Given the description of an element on the screen output the (x, y) to click on. 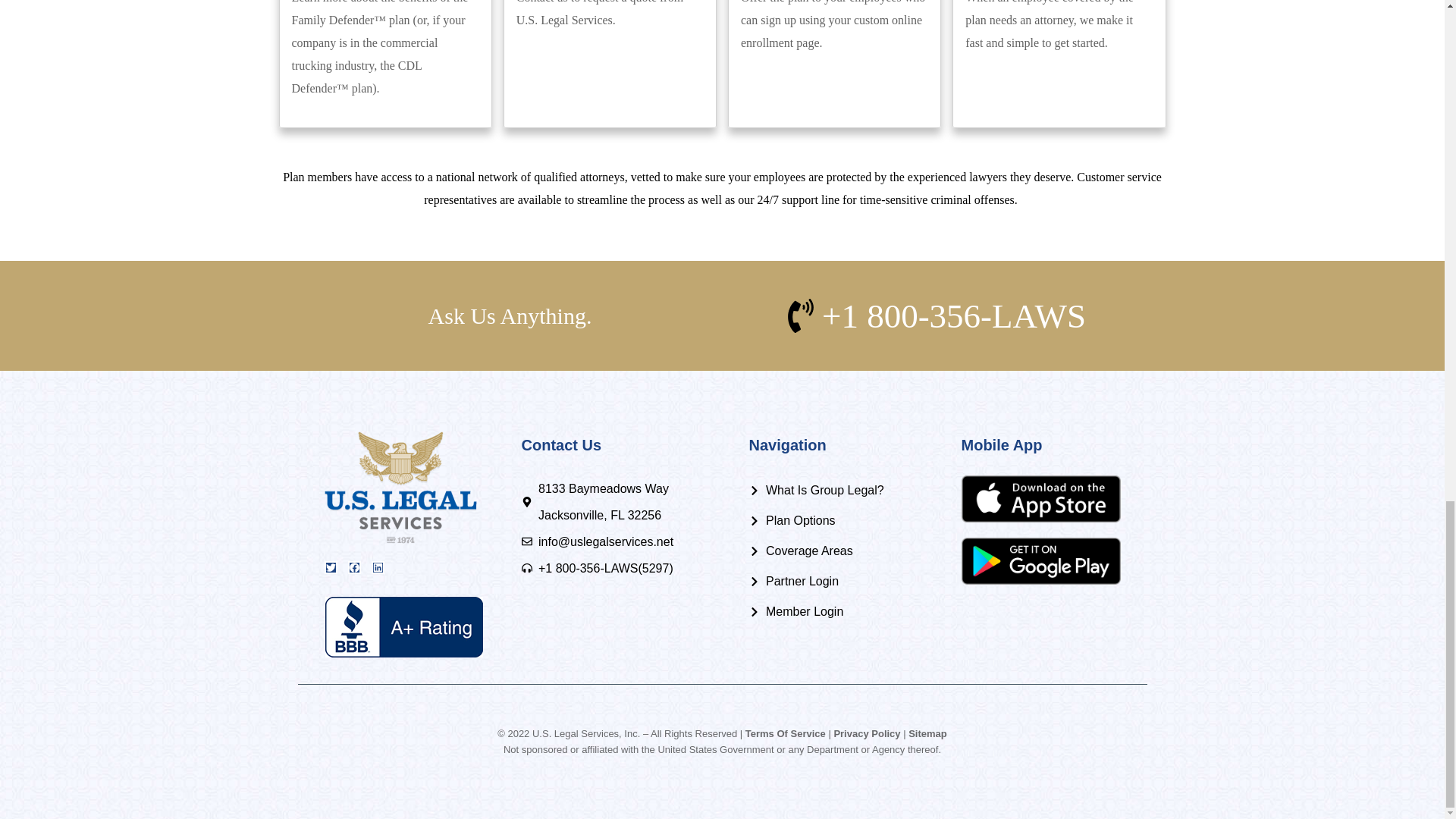
LinkedIn (377, 567)
Twitter (330, 567)
Facebook (353, 567)
